Given the description of an element on the screen output the (x, y) to click on. 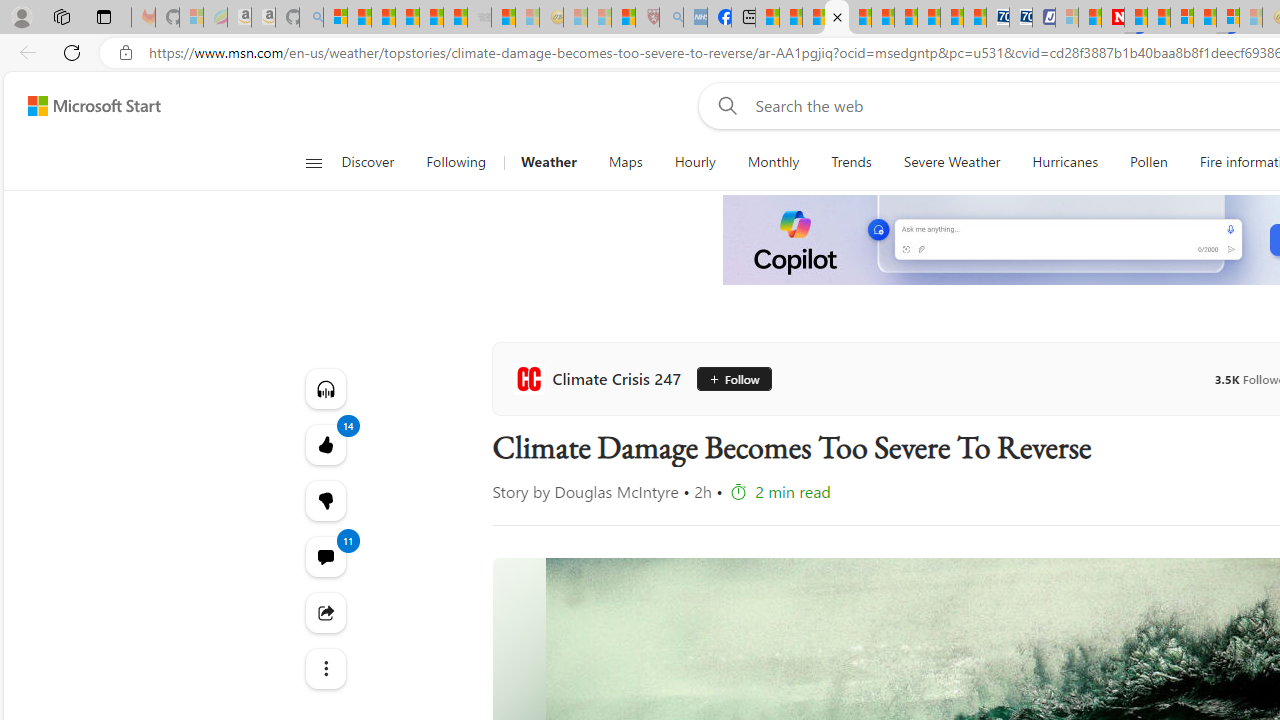
Climate Crisis 247 (600, 378)
Trends (851, 162)
Severe Weather (951, 162)
Maps (625, 162)
Maps (625, 162)
